Given the description of an element on the screen output the (x, y) to click on. 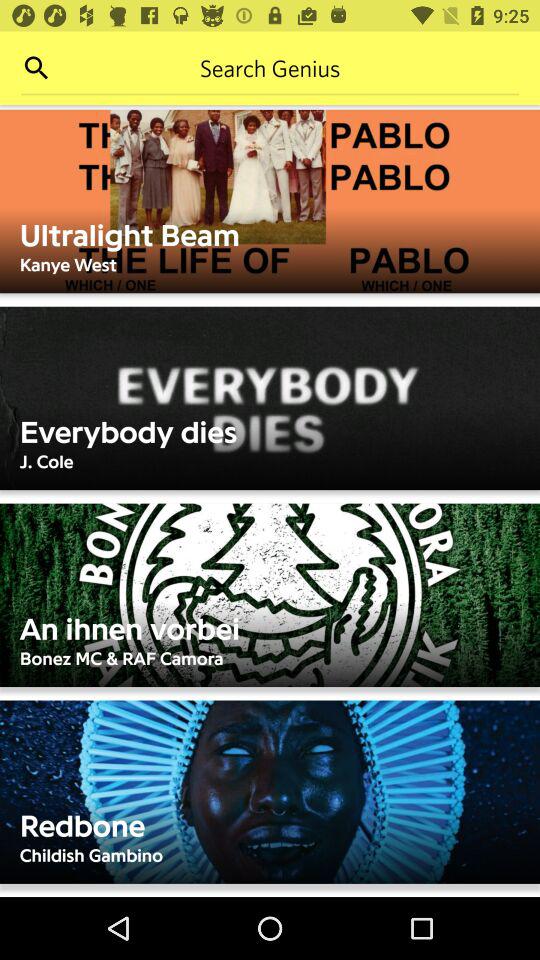
click to search option (36, 68)
